Given the description of an element on the screen output the (x, y) to click on. 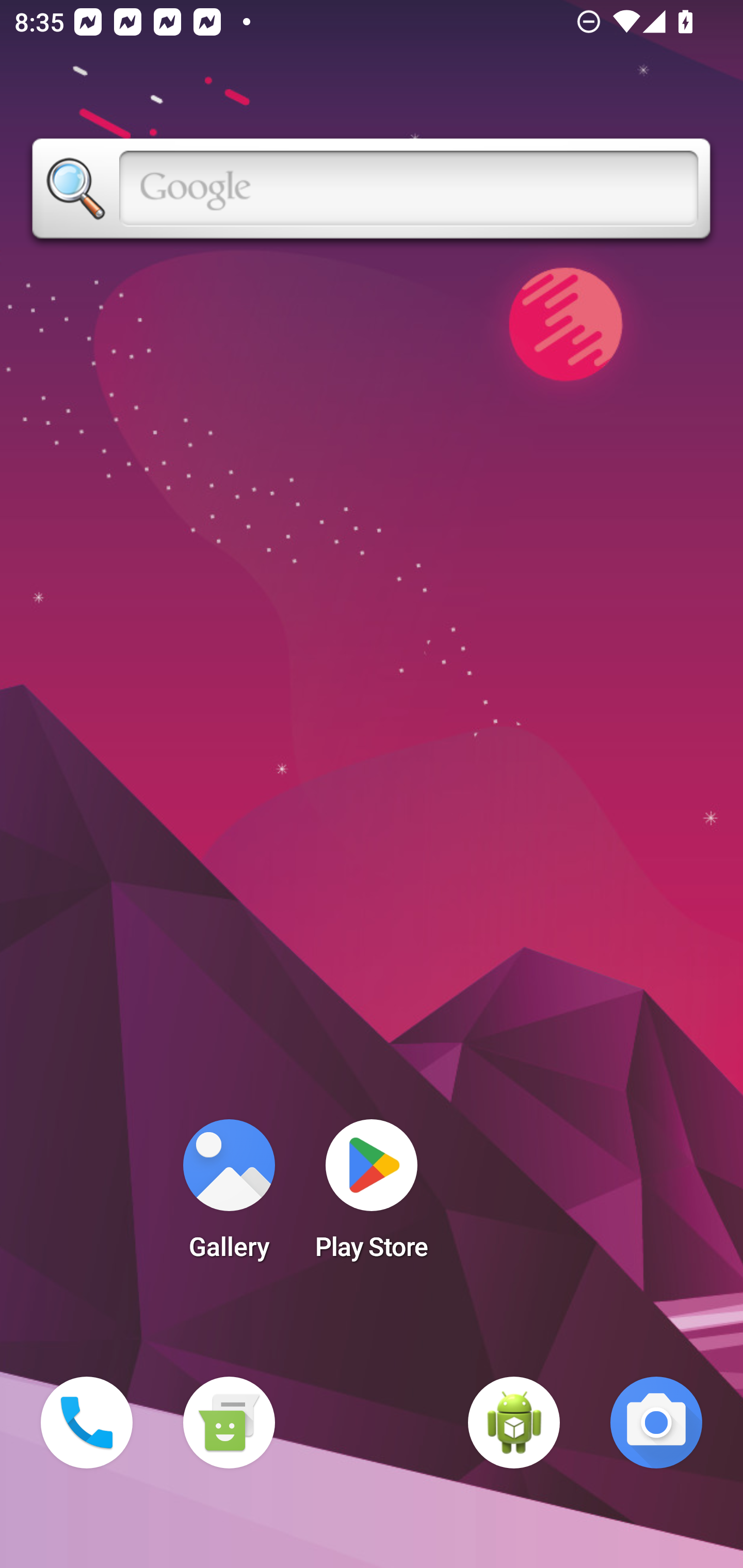
Gallery (228, 1195)
Play Store (371, 1195)
Phone (86, 1422)
Messaging (228, 1422)
WebView Browser Tester (513, 1422)
Camera (656, 1422)
